Given the description of an element on the screen output the (x, y) to click on. 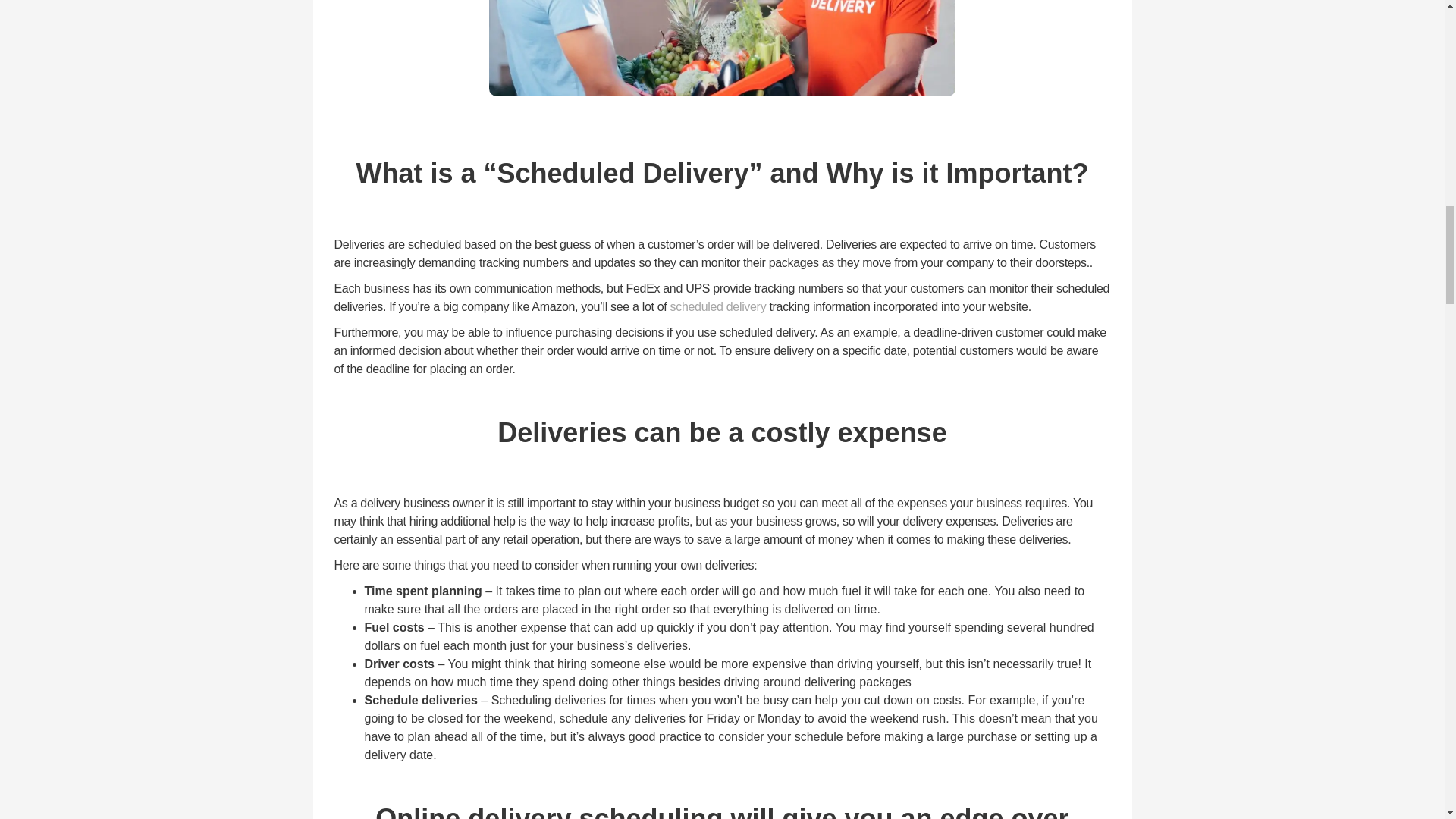
scheduled delivery (718, 306)
